Given the description of an element on the screen output the (x, y) to click on. 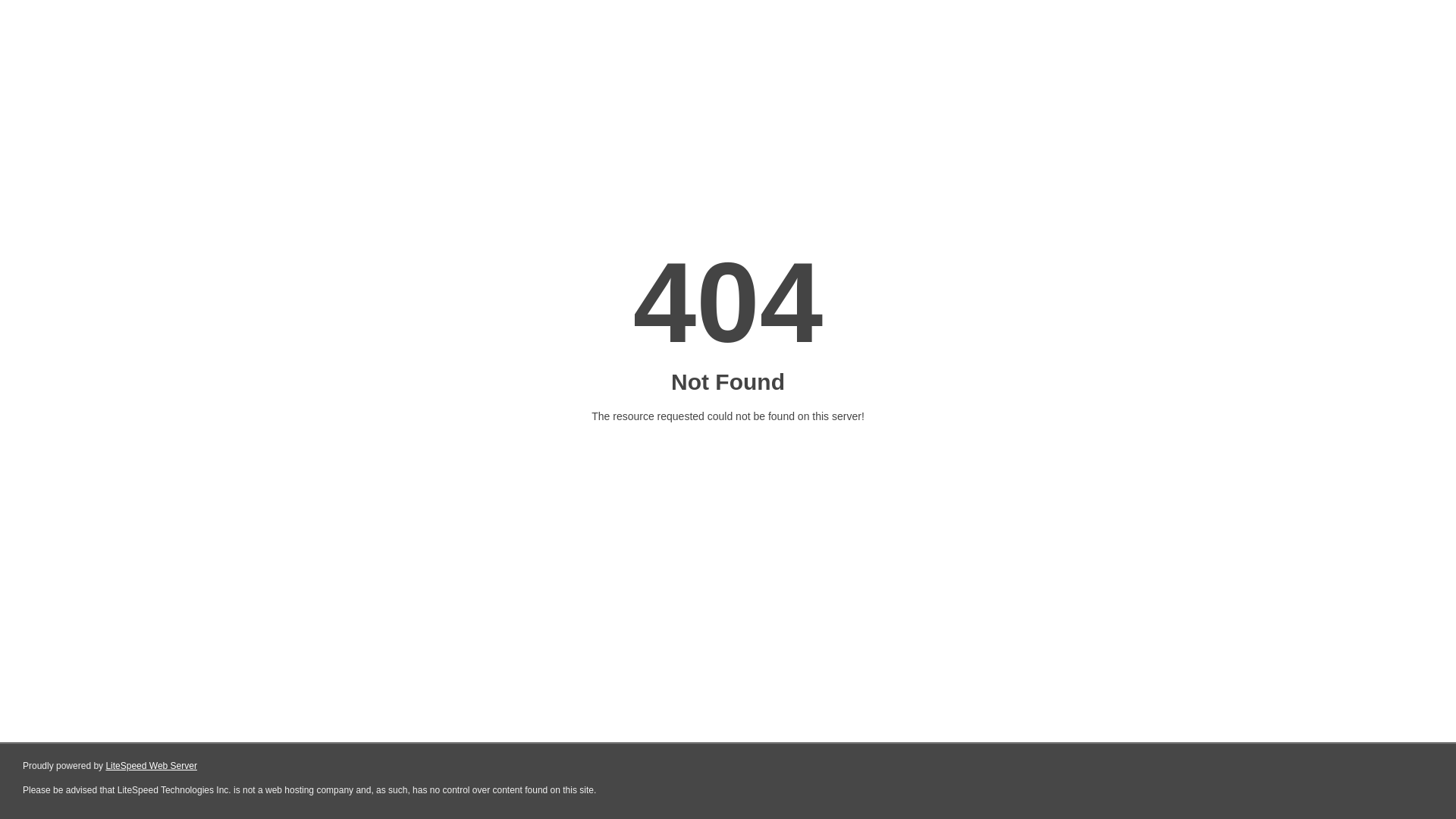
LiteSpeed Web Server Element type: text (151, 765)
